Given the description of an element on the screen output the (x, y) to click on. 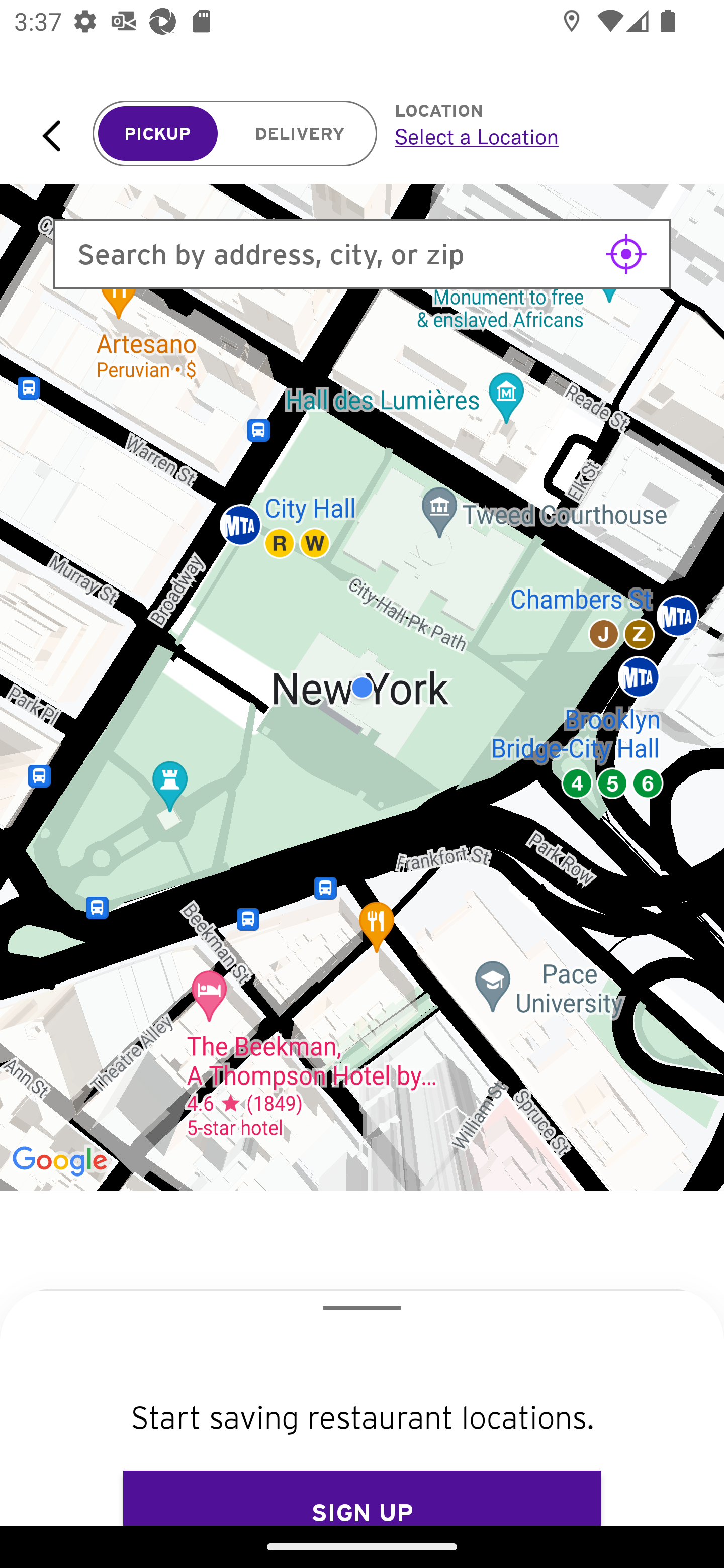
PICKUP (157, 133)
DELIVERY (299, 133)
Select a Location (536, 136)
Search by address, city, or zip (361, 254)
SIGN UP (361, 1497)
